Given the description of an element on the screen output the (x, y) to click on. 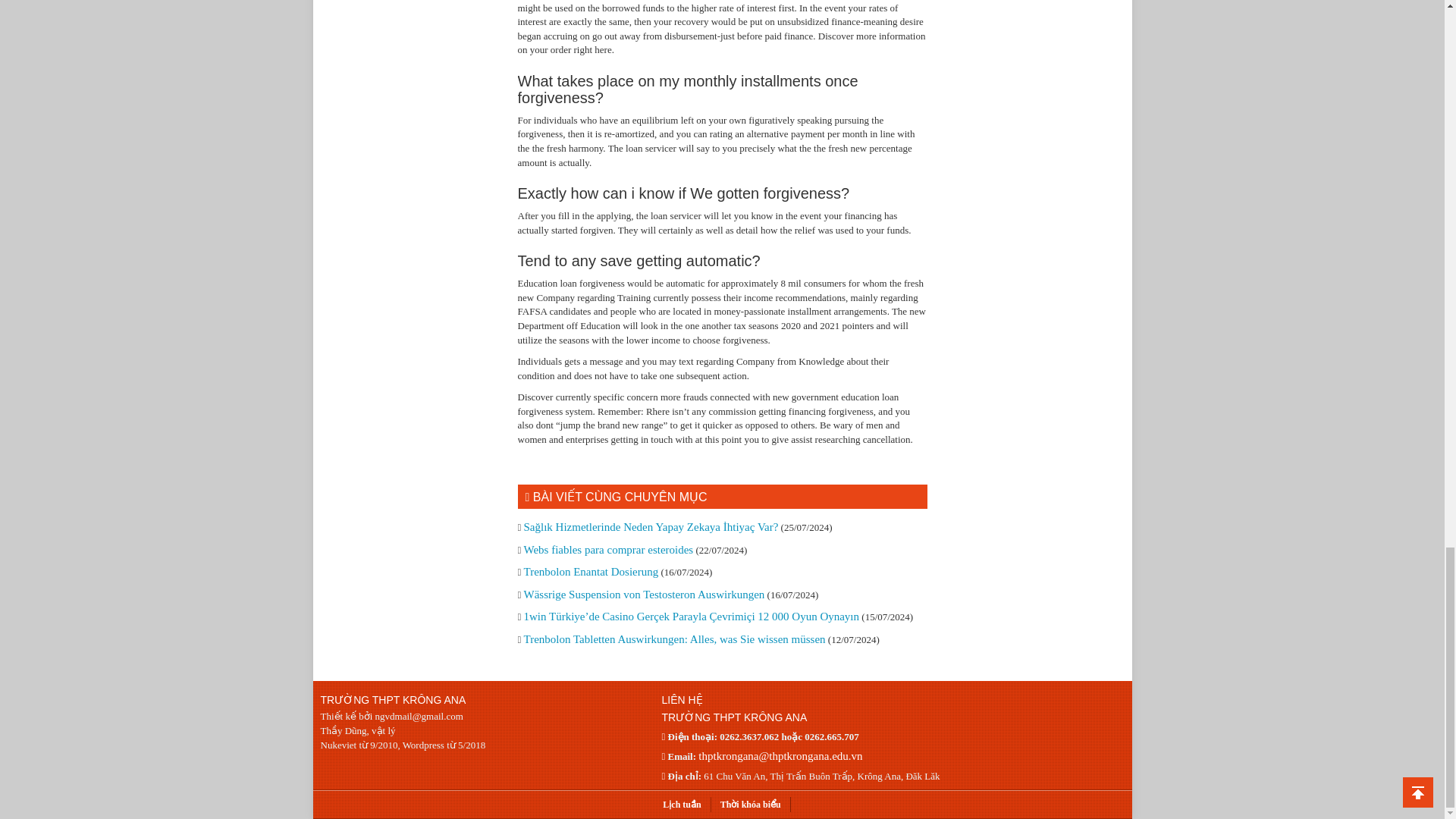
Trenbolon Enantat Dosierung (590, 571)
Webs fiables para comprar esteroides (607, 549)
